Given the description of an element on the screen output the (x, y) to click on. 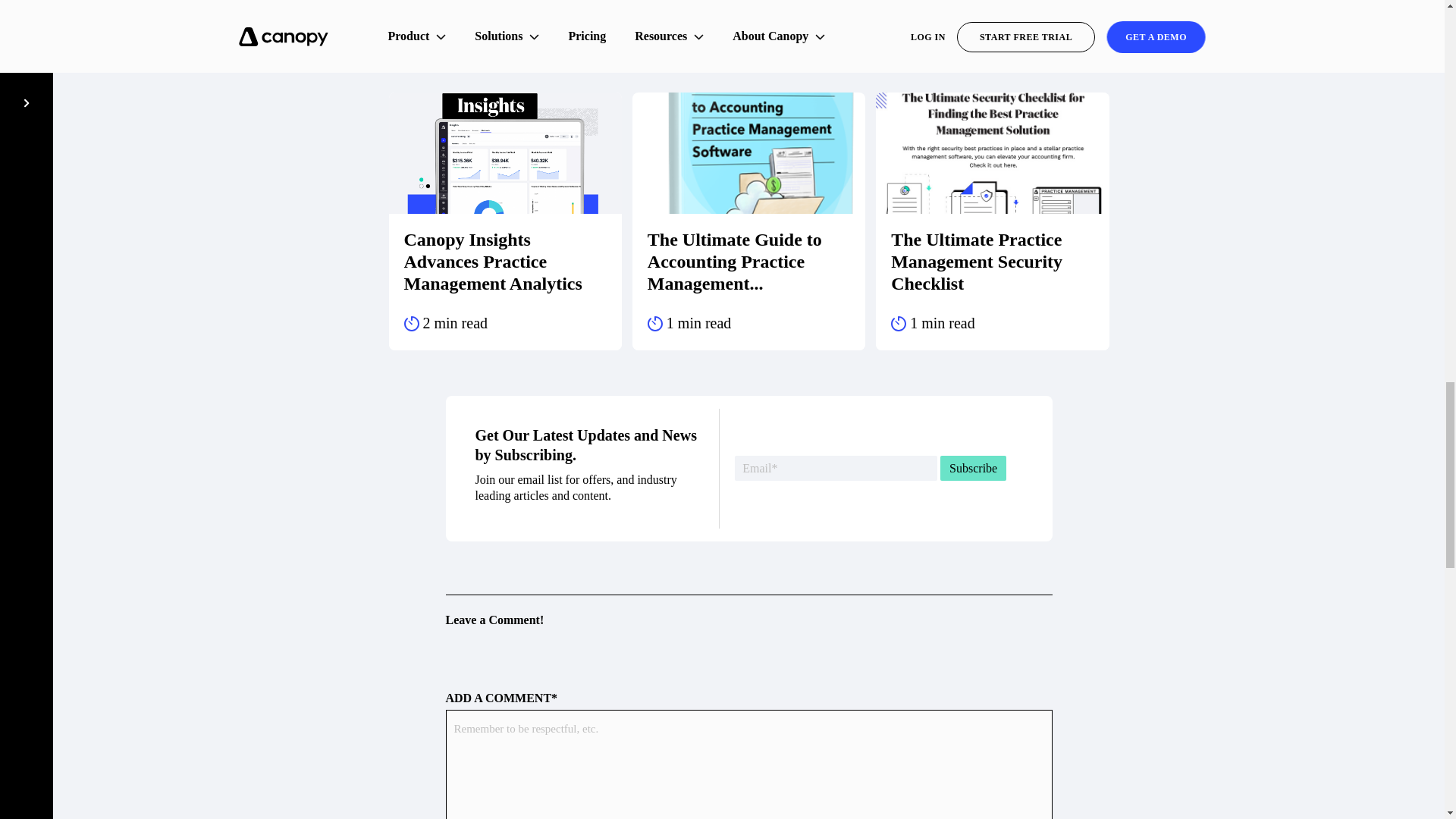
Subscribe (973, 467)
